Given the description of an element on the screen output the (x, y) to click on. 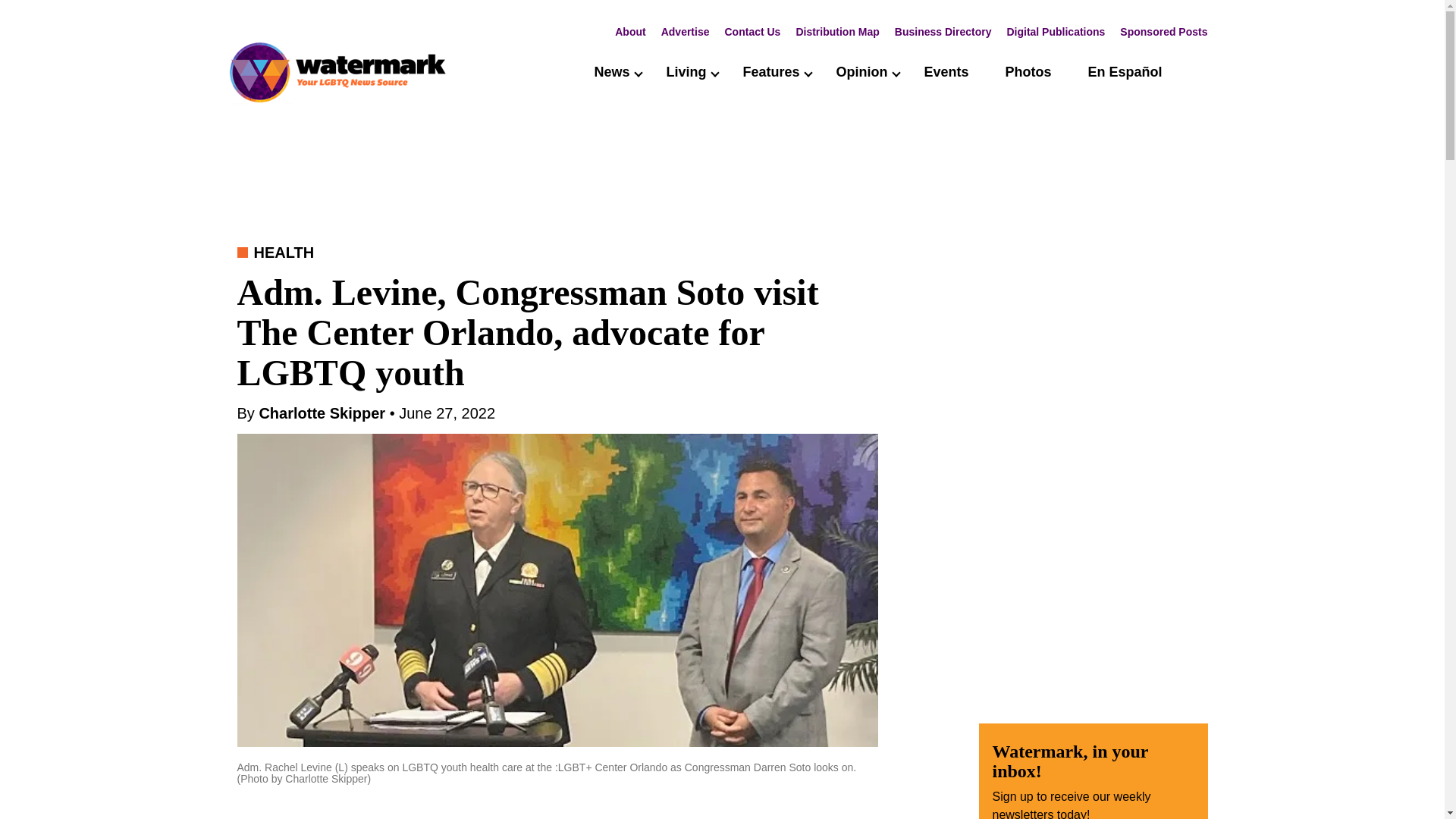
Advertise (685, 31)
Photos (1027, 71)
Business Directory (943, 31)
Distribution Map (836, 31)
About (629, 31)
Sponsored Posts (1163, 31)
News (611, 71)
Events (945, 71)
Contact Us (752, 31)
Digital Publications (1055, 31)
Opinion (860, 71)
Features (770, 71)
Living (685, 71)
